Given the description of an element on the screen output the (x, y) to click on. 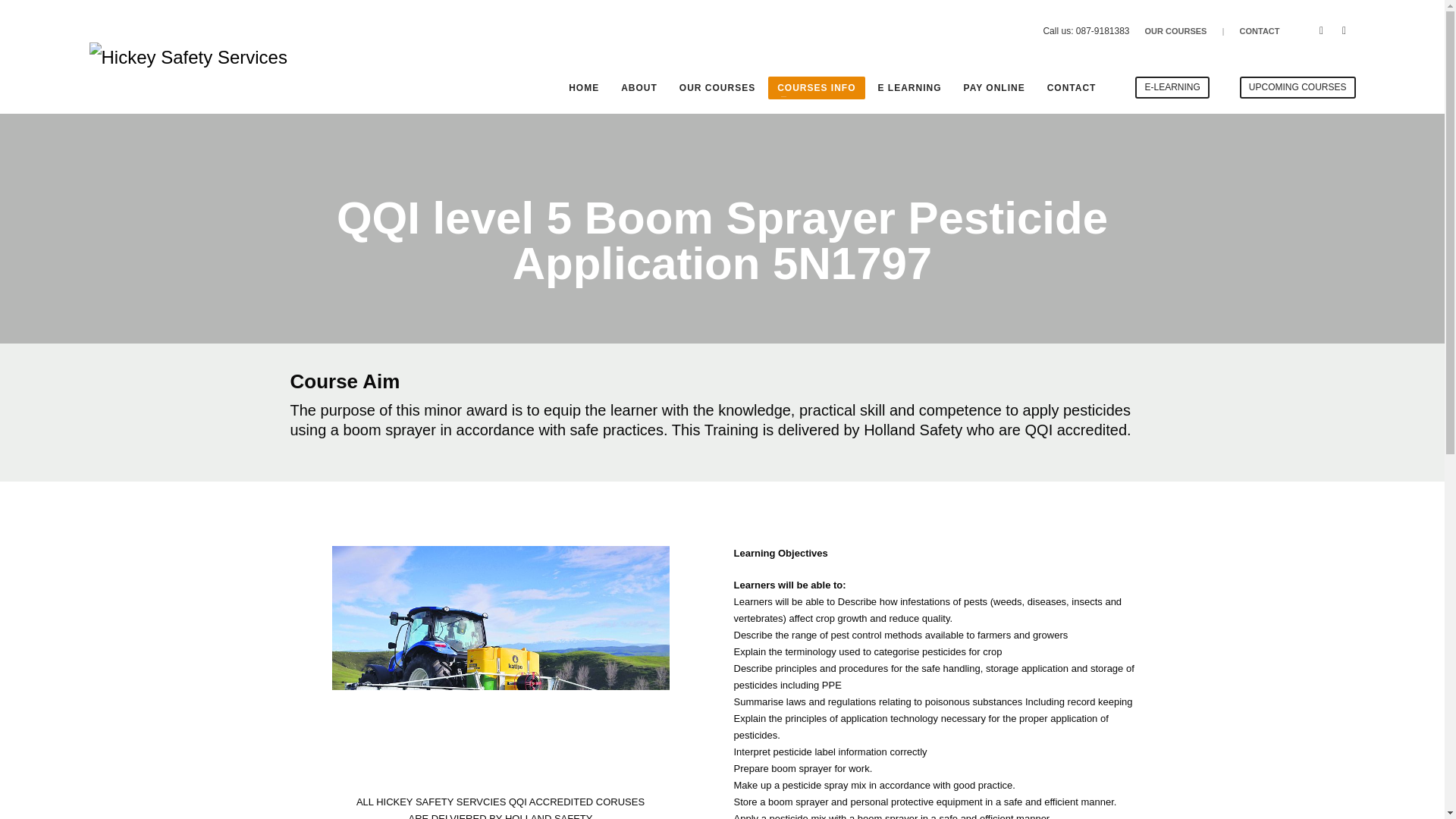
E LEARNING (909, 87)
HOME (583, 87)
Facebook (1321, 30)
COURSES INFO (816, 87)
Twitter (1344, 30)
CONTACT (1259, 30)
OUR COURSES (716, 87)
ABOUT (638, 87)
OUR COURSES (1175, 30)
unnamed (500, 658)
